Given the description of an element on the screen output the (x, y) to click on. 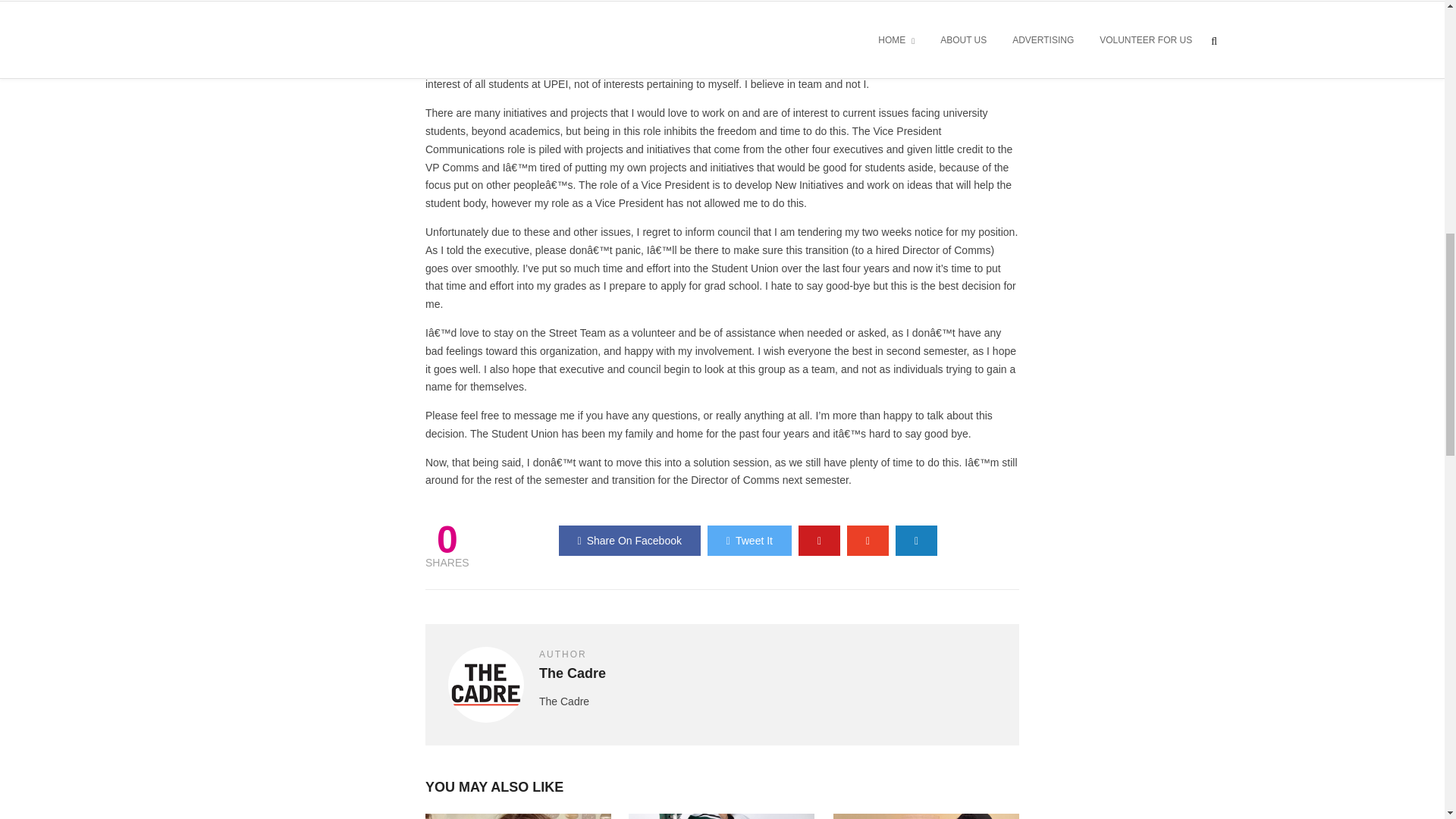
Share On Twitter (749, 540)
Tweet It (749, 540)
Share On Facebook (629, 540)
Share On Facebook (629, 540)
Share by Email (916, 540)
Share On Pinterest (818, 540)
